Given the description of an element on the screen output the (x, y) to click on. 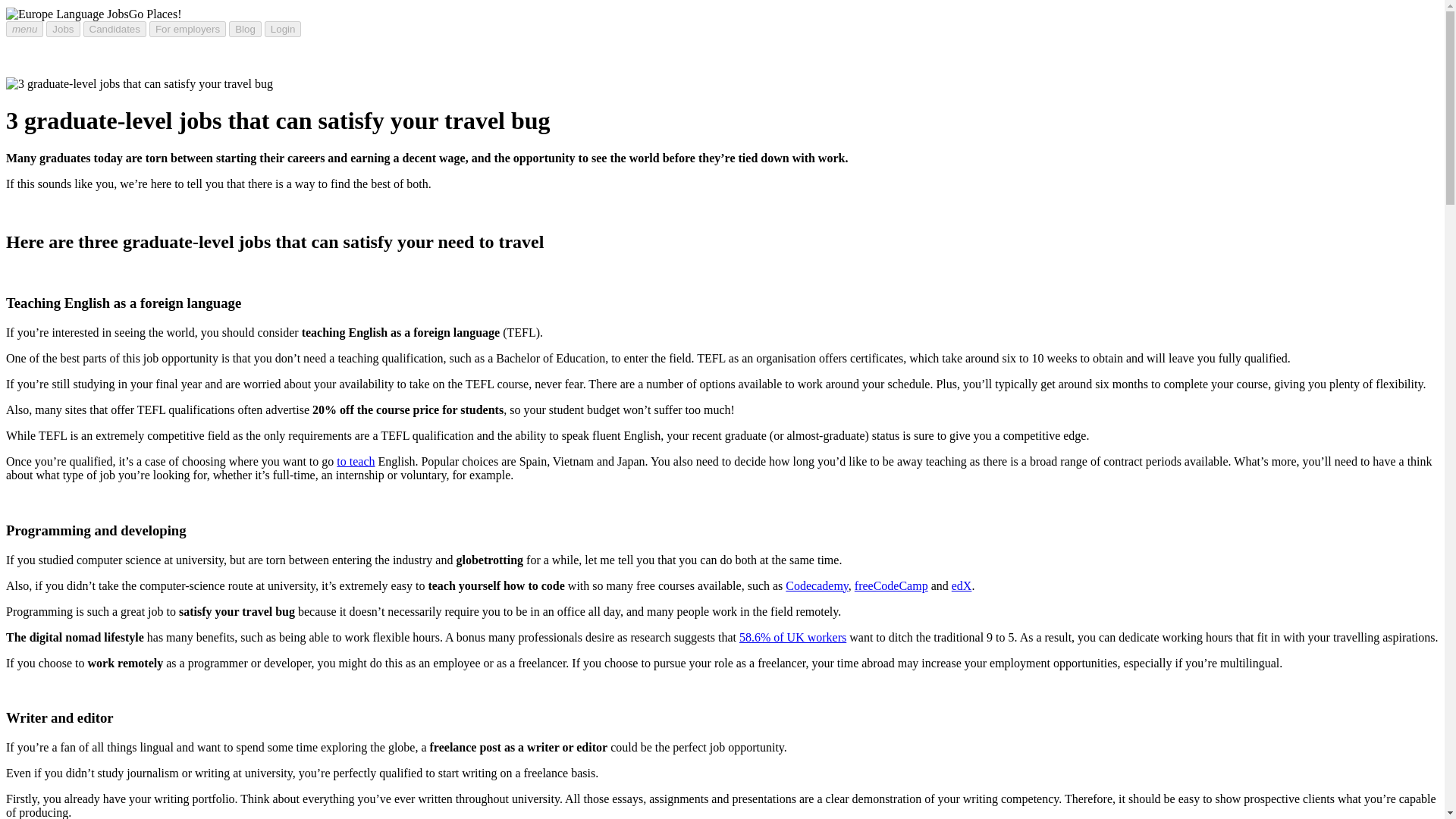
to teach (355, 461)
Codecademy (816, 585)
edX (962, 585)
Login (282, 28)
For employers (187, 28)
Jobs (63, 28)
Blog (245, 28)
freeCodeCamp (891, 585)
menu (24, 28)
Candidates (114, 28)
